Given the description of an element on the screen output the (x, y) to click on. 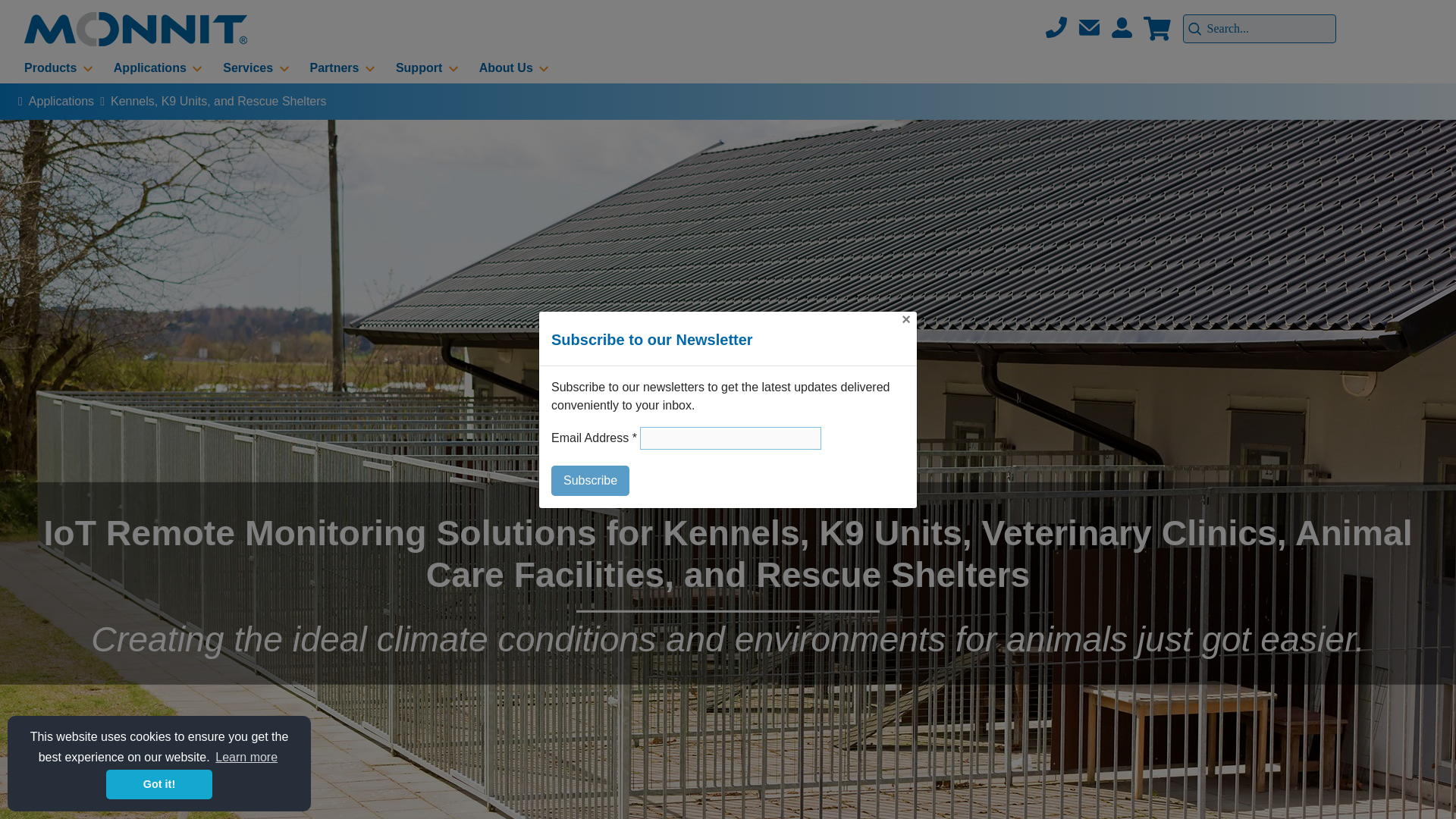
Subscribe (589, 481)
Learn more (245, 757)
Got it! (159, 784)
